Given the description of an element on the screen output the (x, y) to click on. 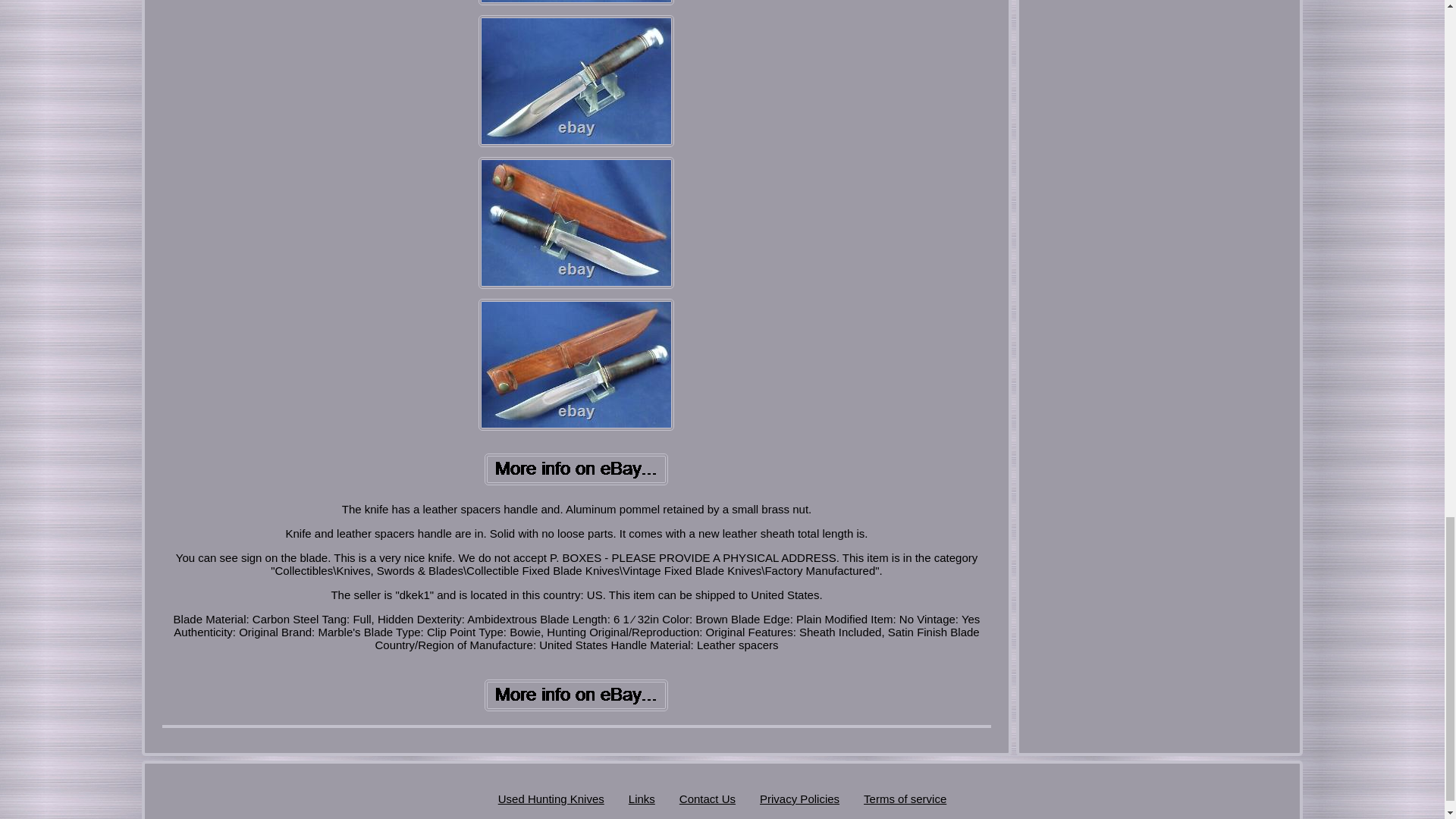
Vintage Marbles Gladstone Knife with Sheath (576, 81)
Vintage Marbles Gladstone Knife with Sheath (576, 2)
Vintage Marbles Gladstone Knife with Sheath (576, 469)
Vintage Marbles Gladstone Knife with Sheath (576, 223)
Vintage Marbles Gladstone Knife with Sheath (576, 695)
Vintage Marbles Gladstone Knife with Sheath (576, 364)
